Given the description of an element on the screen output the (x, y) to click on. 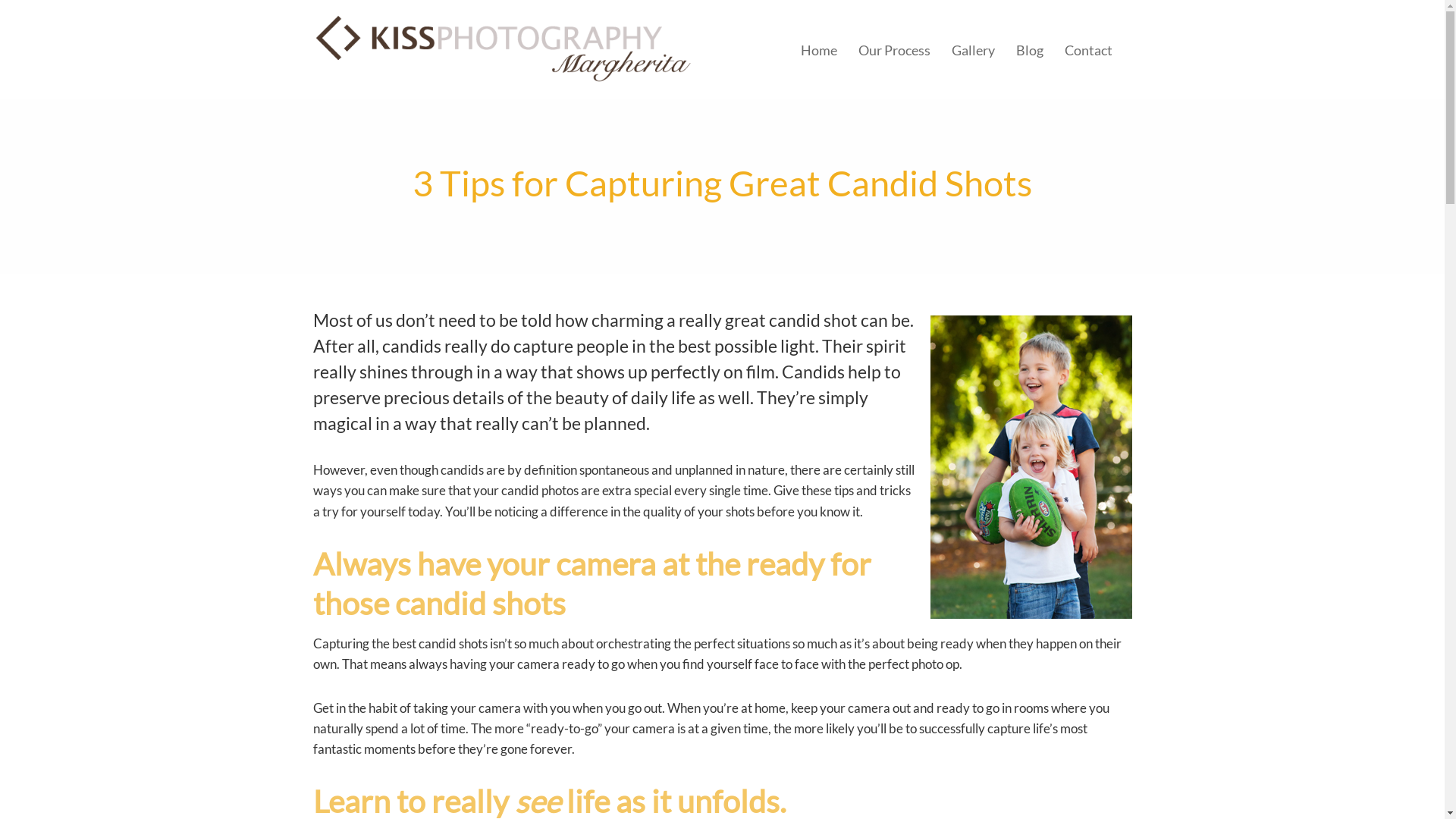
Contact Element type: text (1088, 49)
Blog Element type: text (1029, 49)
Home Element type: text (818, 49)
Our Process Element type: text (894, 49)
Gallery Element type: text (972, 49)
